Given the description of an element on the screen output the (x, y) to click on. 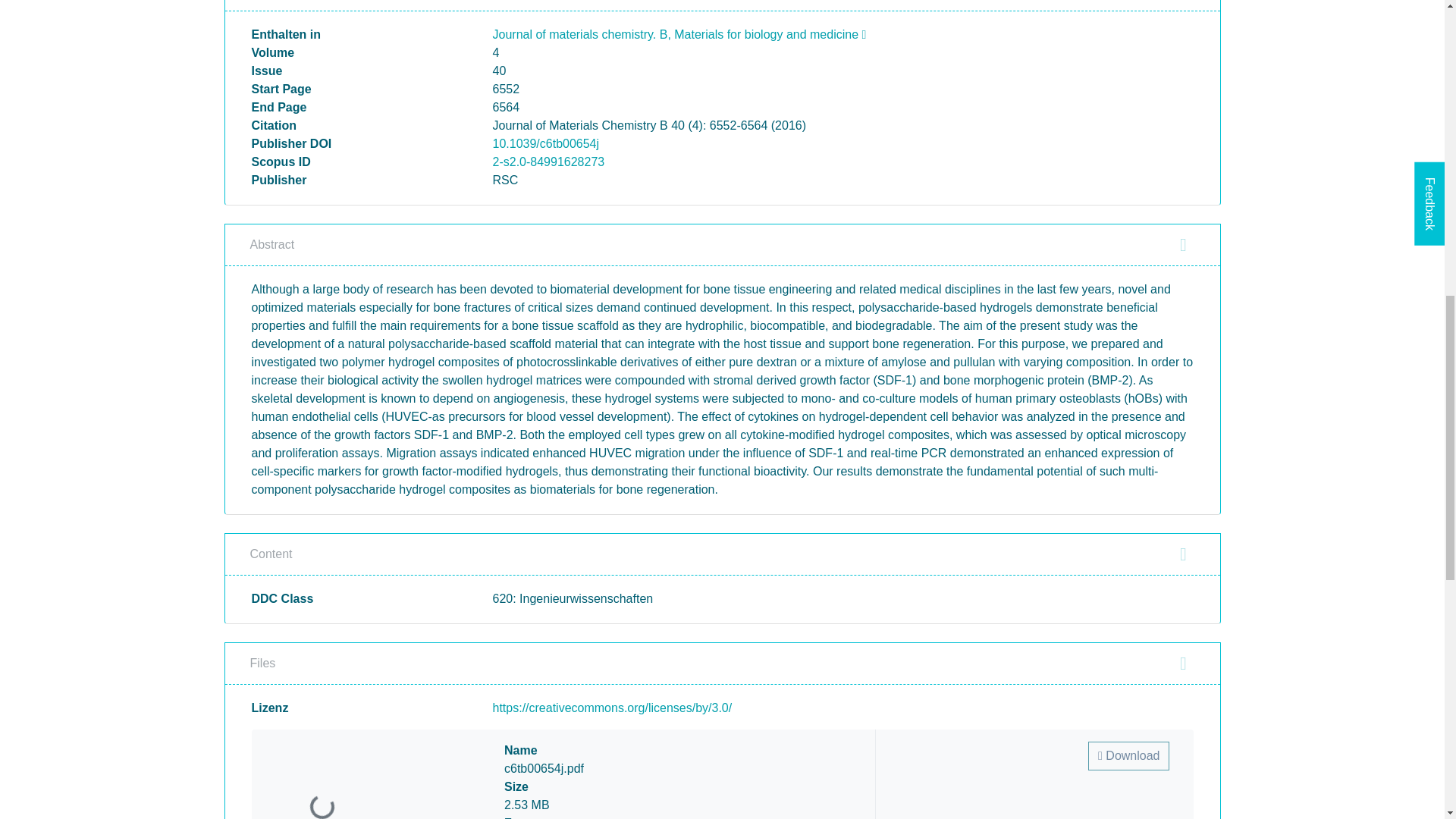
Close section (1183, 554)
Close section (1183, 244)
Close section (1183, 663)
